Given the description of an element on the screen output the (x, y) to click on. 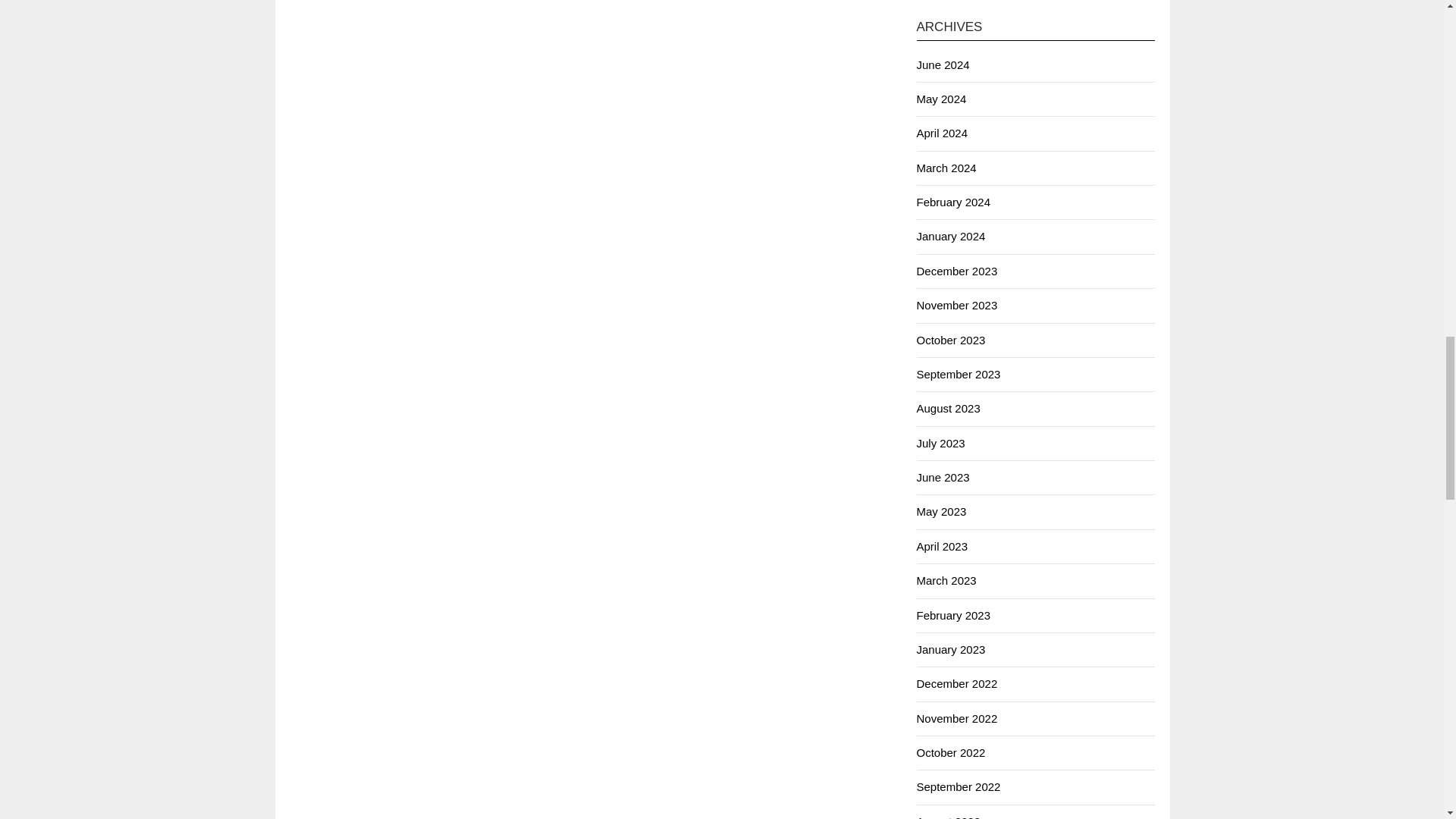
December 2023 (956, 270)
January 2024 (950, 236)
March 2024 (945, 167)
September 2023 (957, 373)
October 2023 (950, 339)
July 2023 (939, 442)
February 2024 (952, 201)
November 2023 (956, 305)
August 2023 (947, 408)
June 2024 (942, 64)
May 2024 (940, 98)
April 2024 (941, 132)
June 2023 (942, 477)
